Given the description of an element on the screen output the (x, y) to click on. 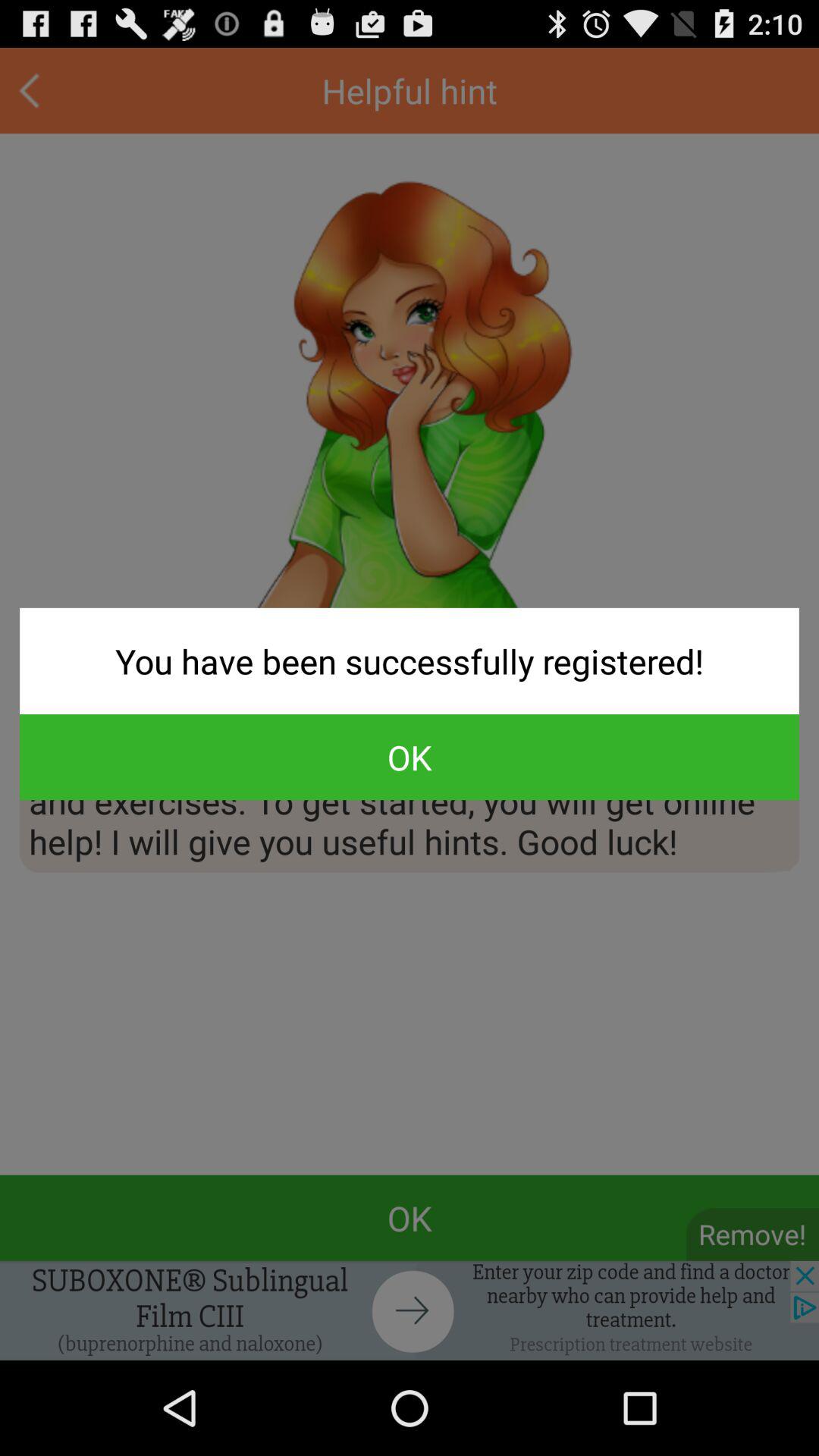
flip to the ok button (409, 757)
